Given the description of an element on the screen output the (x, y) to click on. 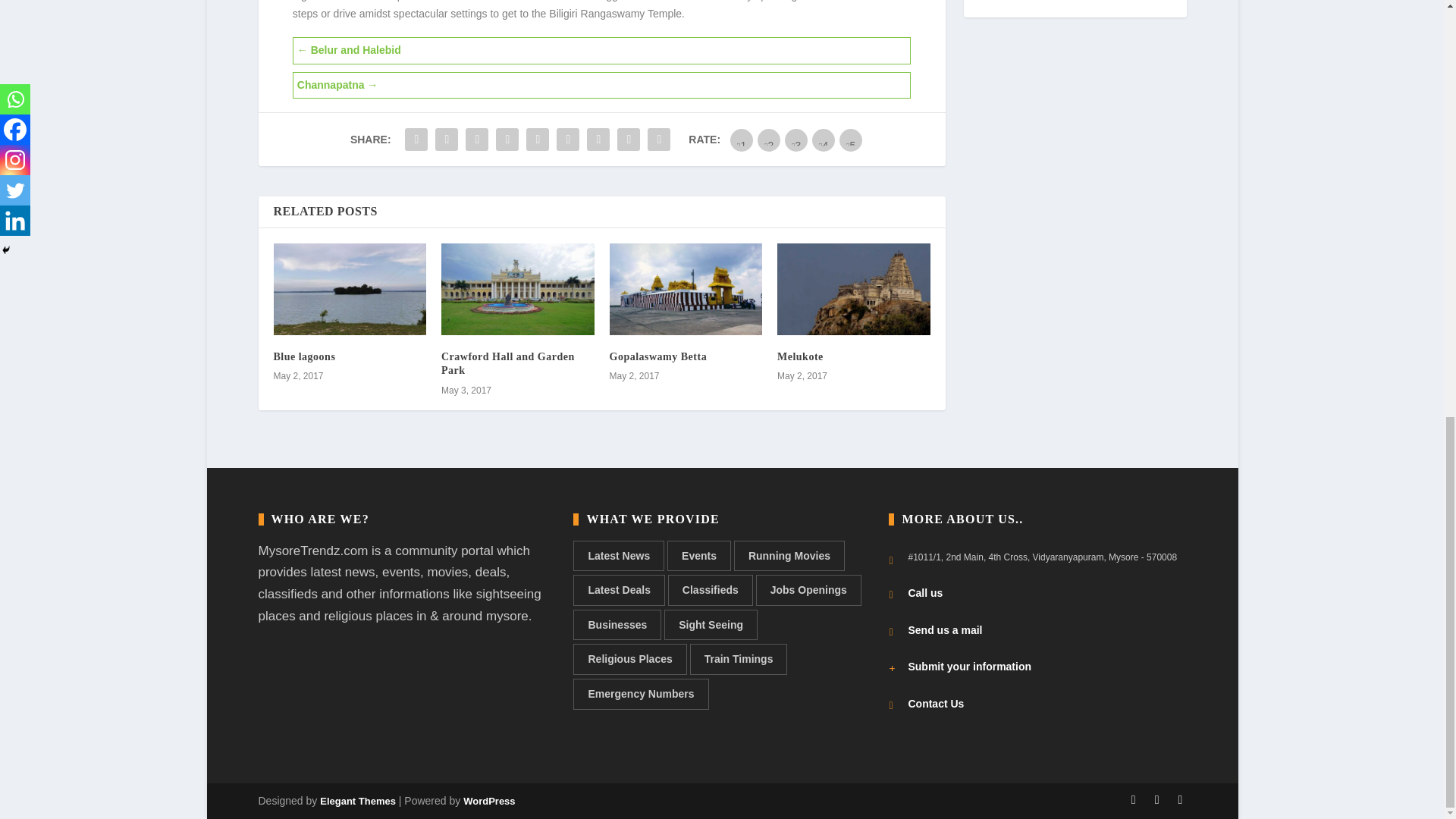
bad (741, 139)
Share "Biligiri Rangana Hill" via Stumbleupon (597, 139)
Share "Biligiri Rangana Hill" via Email (627, 139)
Share "Biligiri Rangana Hill" via Buffer (568, 139)
Share "Biligiri Rangana Hill" via Pinterest (507, 139)
Share "Biligiri Rangana Hill" via Tumblr (476, 139)
Share "Biligiri Rangana Hill" via LinkedIn (537, 139)
Share "Biligiri Rangana Hill" via Print (658, 139)
Share "Biligiri Rangana Hill" via Twitter (445, 139)
Blue lagoons (303, 356)
Share "Biligiri Rangana Hill" via Facebook (415, 139)
